Given the description of an element on the screen output the (x, y) to click on. 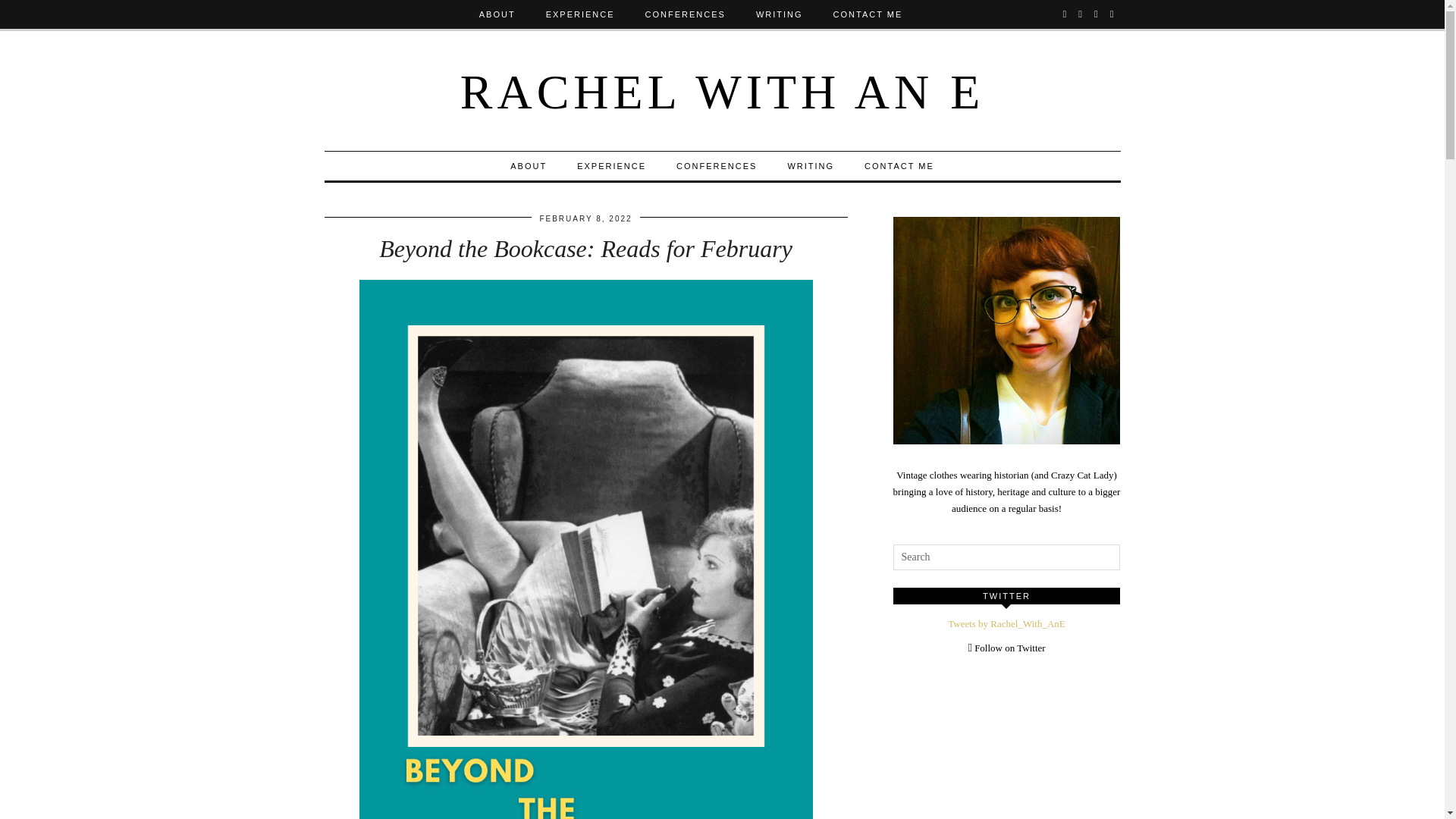
CONTACT ME (868, 14)
WRITING (809, 165)
CONFERENCES (716, 165)
RACHEL WITH AN E (722, 91)
ABOUT (497, 14)
CONFERENCES (685, 14)
ABOUT (528, 165)
WRITING (779, 14)
EXPERIENCE (580, 14)
CONTACT ME (898, 165)
EXPERIENCE (611, 165)
Beyond the Bookcase: Reads for February (585, 248)
Rachel with an E (722, 91)
